Given the description of an element on the screen output the (x, y) to click on. 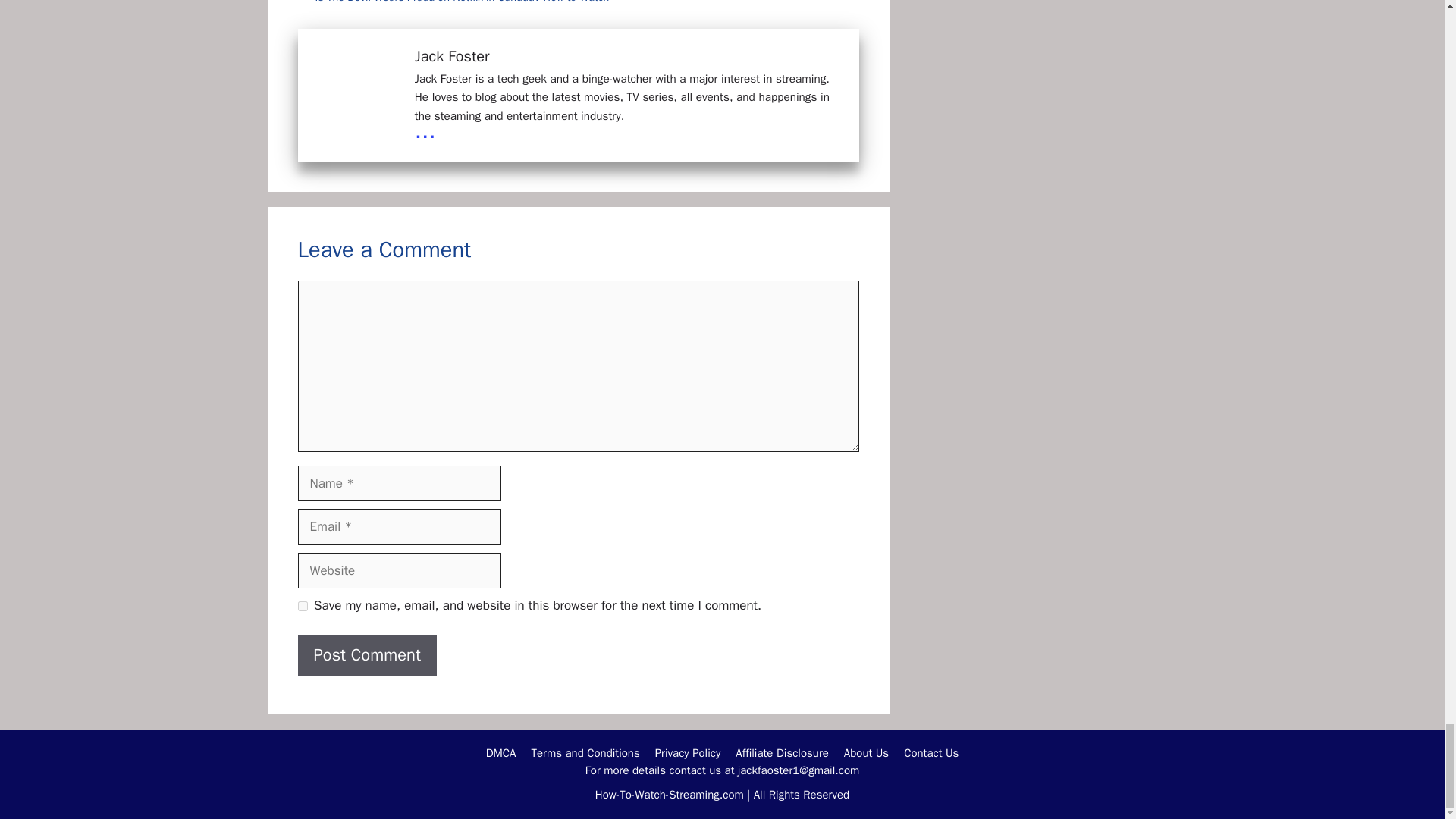
Terms and Conditions (585, 753)
DMCA (501, 753)
Post Comment (366, 655)
yes (302, 605)
Post Comment (366, 655)
Is The Devil Wears Prada on Netflix in Canada? How to Watch (462, 2)
